Given the description of an element on the screen output the (x, y) to click on. 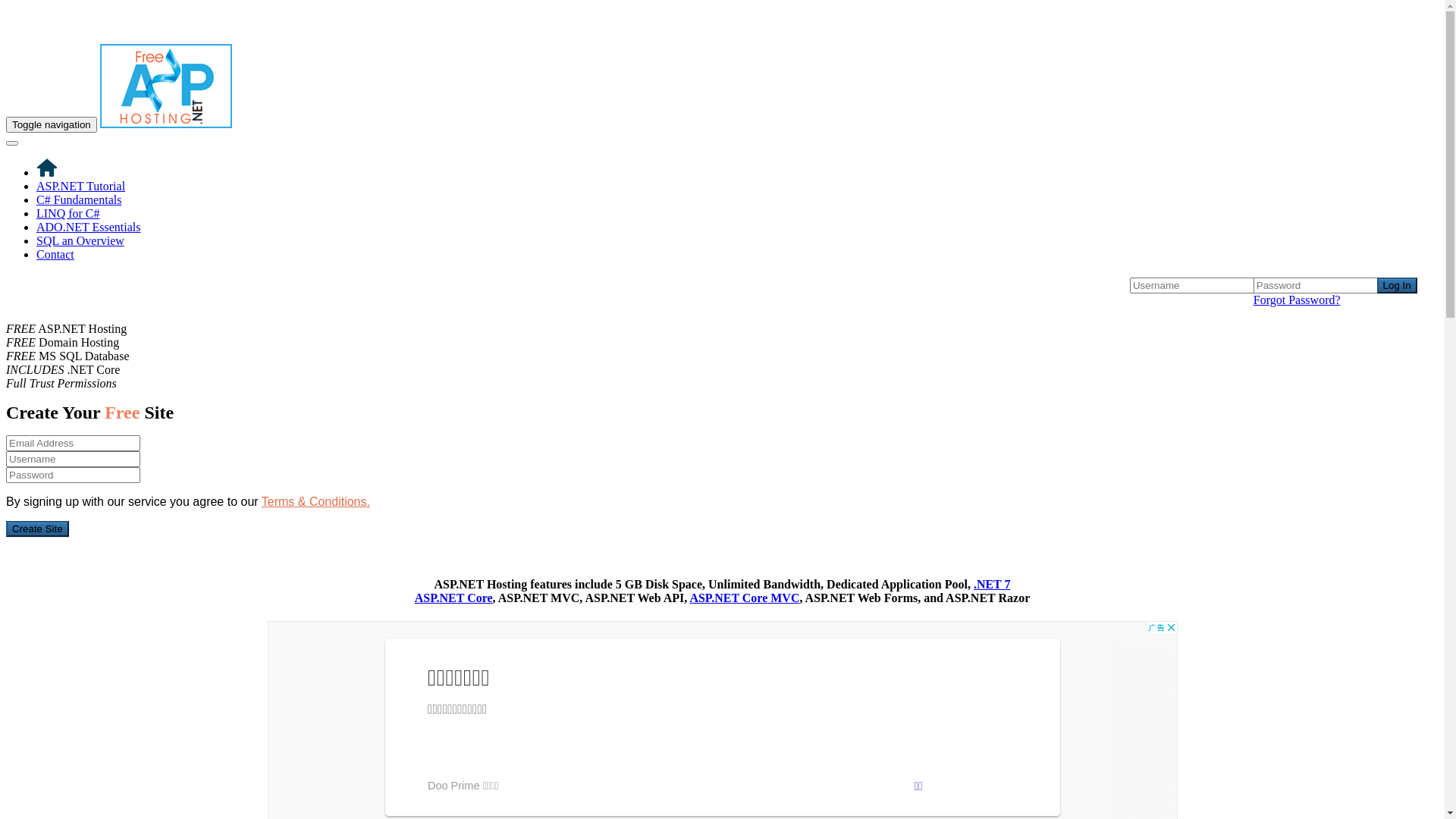
ASP.NET Core Element type: text (453, 597)
ASP.NET Hosting .NET 7 Element type: text (139, 290)
Toggle navigation Element type: text (51, 124)
SQL an Overview Element type: text (80, 240)
.NET 7 Element type: text (991, 583)
Advertisement Element type: hover (1283, 413)
Create Site Element type: text (37, 528)
Log In Element type: text (1397, 285)
ASP.NET Tutorial Element type: text (80, 185)
ADO.NET Essentials Element type: text (88, 226)
Check User Element type: text (32, 7)
Forgot Password? Element type: text (1296, 299)
Contact Element type: text (55, 253)
LINQ for C# Element type: text (68, 213)
Terms & Conditions. Element type: text (315, 501)
ASP.NET Core MVC Element type: text (744, 597)
C# Fundamentals Element type: text (78, 199)
